Given the description of an element on the screen output the (x, y) to click on. 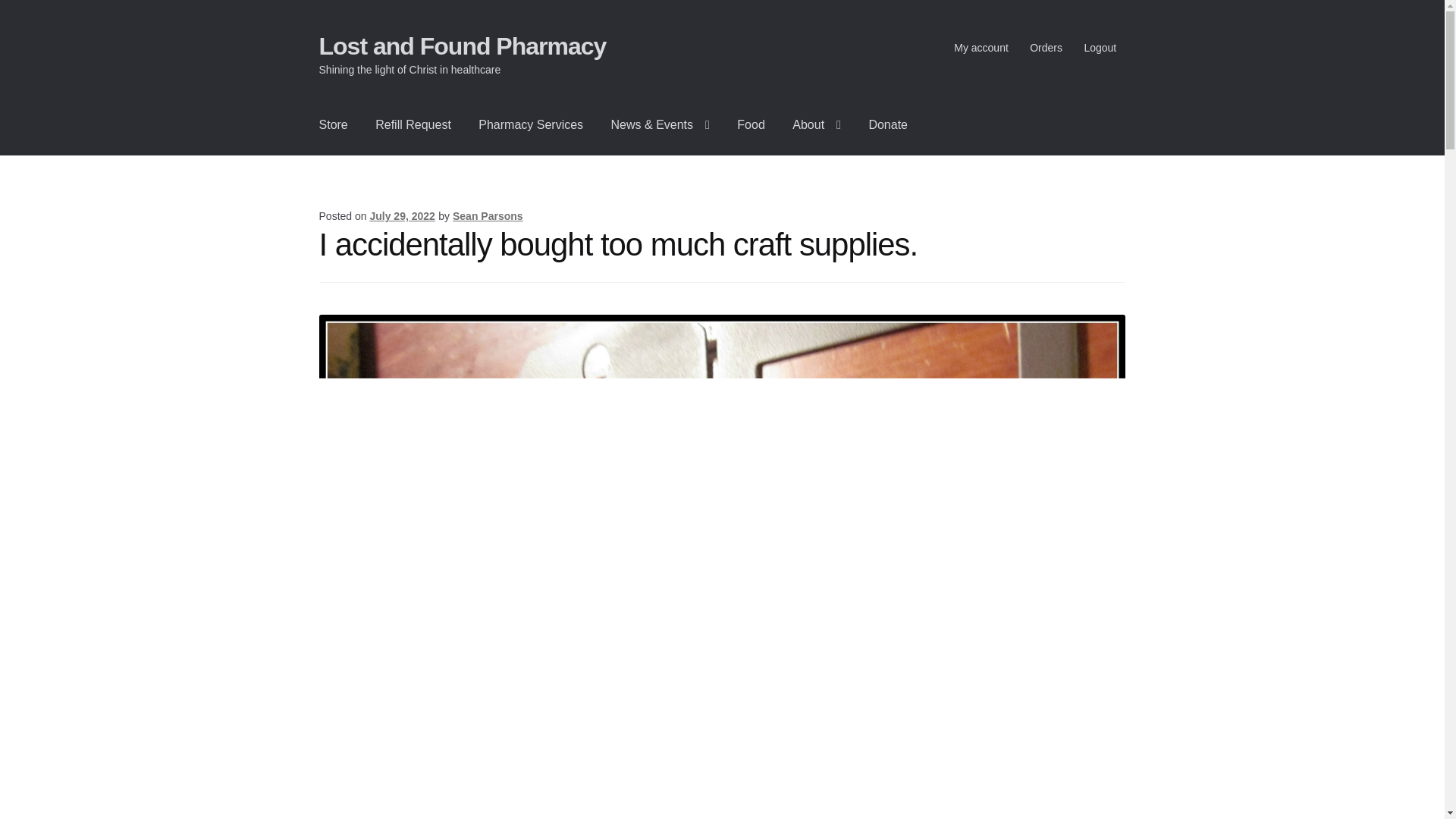
Store (333, 124)
Donate (888, 124)
Pharmacy Services (530, 124)
Refill Request (412, 124)
Orders (1045, 47)
My account (980, 47)
Logout (1099, 47)
About (816, 124)
Lost and Found Pharmacy (462, 45)
